Given the description of an element on the screen output the (x, y) to click on. 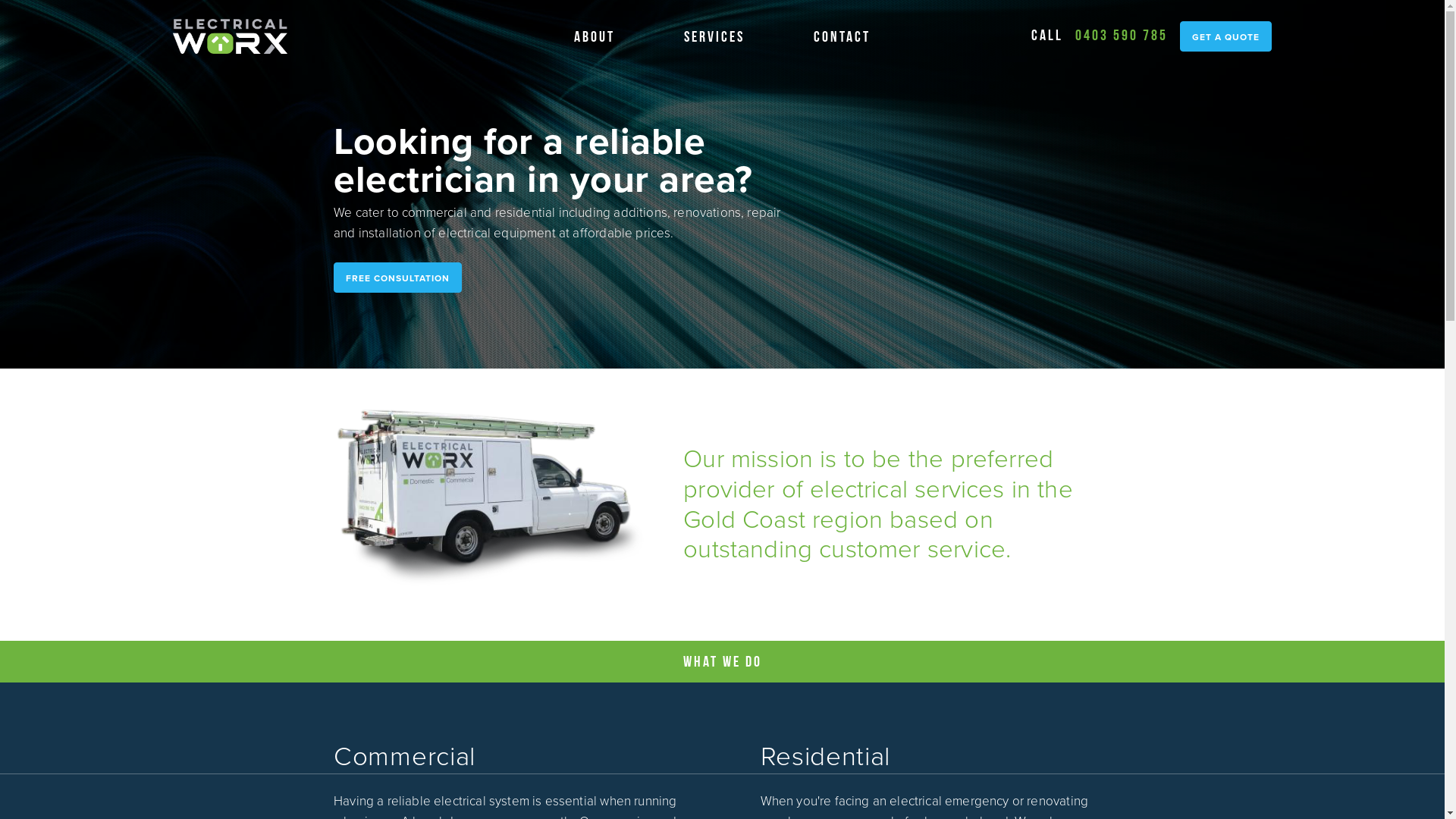
Services Element type: text (714, 36)
About Element type: text (594, 36)
0403 590 785 Element type: text (1121, 34)
FREE CONSULTATION Element type: text (397, 277)
GET A QUOTE Element type: text (1225, 36)
Contact Element type: text (841, 36)
